Given the description of an element on the screen output the (x, y) to click on. 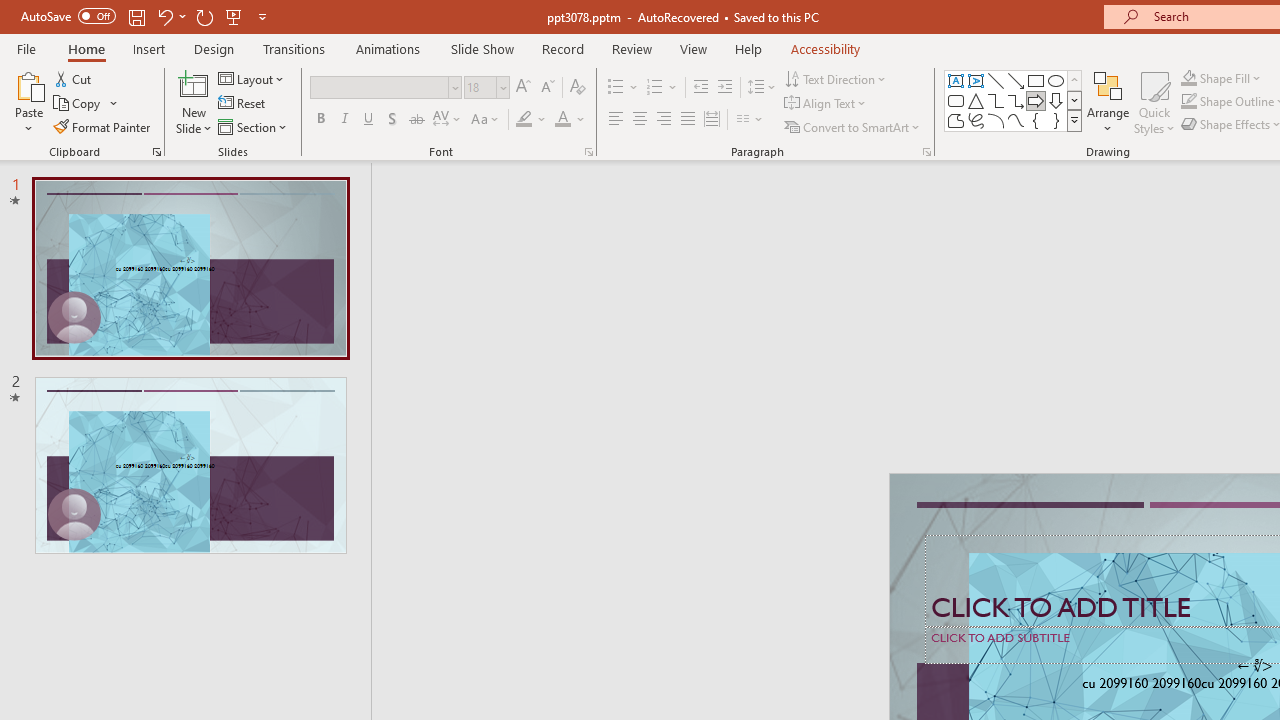
Right Brace (1055, 120)
Layout (252, 78)
Reset (243, 103)
Font Color Red (562, 119)
Increase Indent (725, 87)
Shape Fill Dark Green, Accent 2 (1188, 78)
Paragraph... (926, 151)
